Given the description of an element on the screen output the (x, y) to click on. 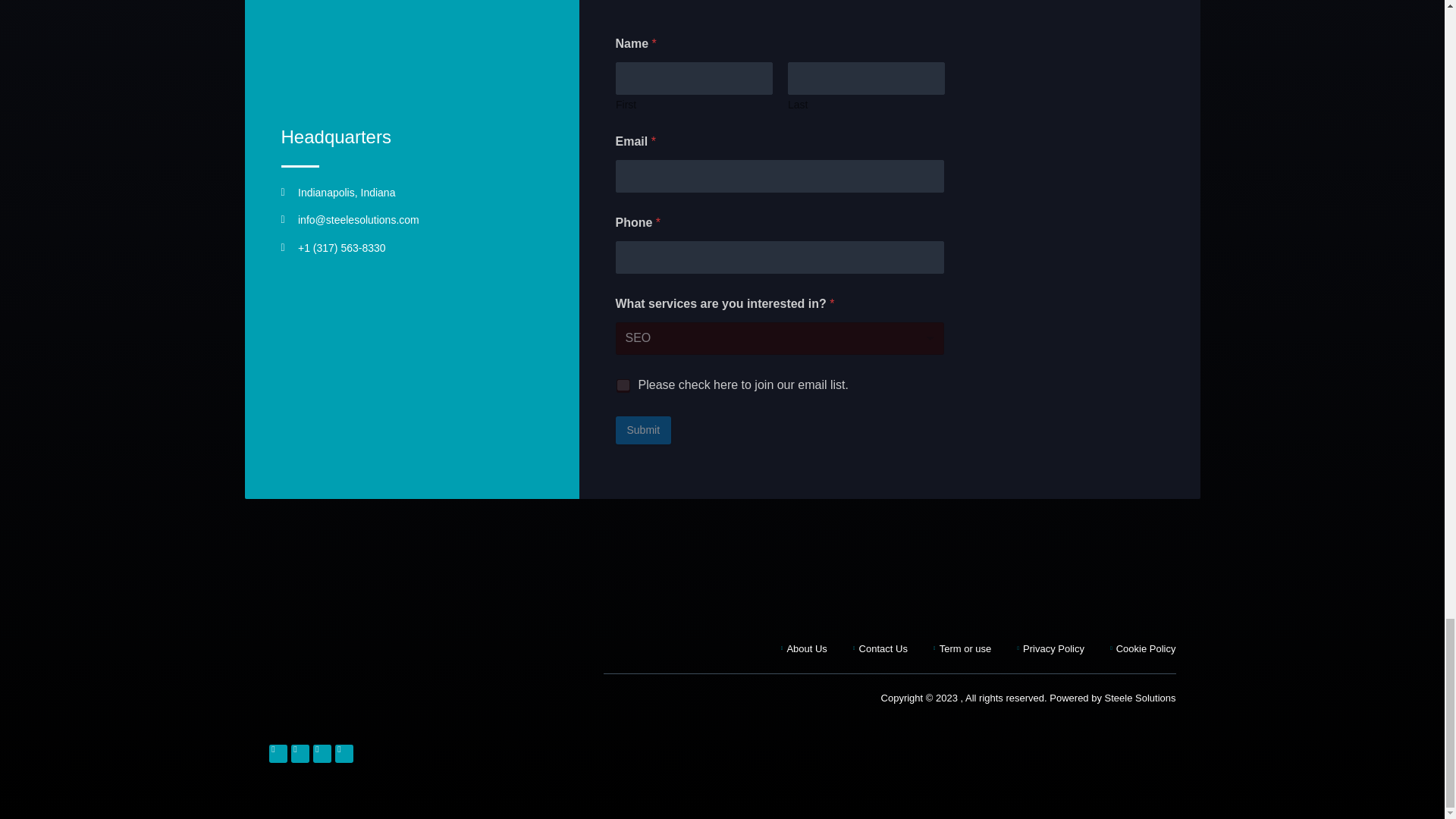
Please check here to join our email list. (622, 385)
